Given the description of an element on the screen output the (x, y) to click on. 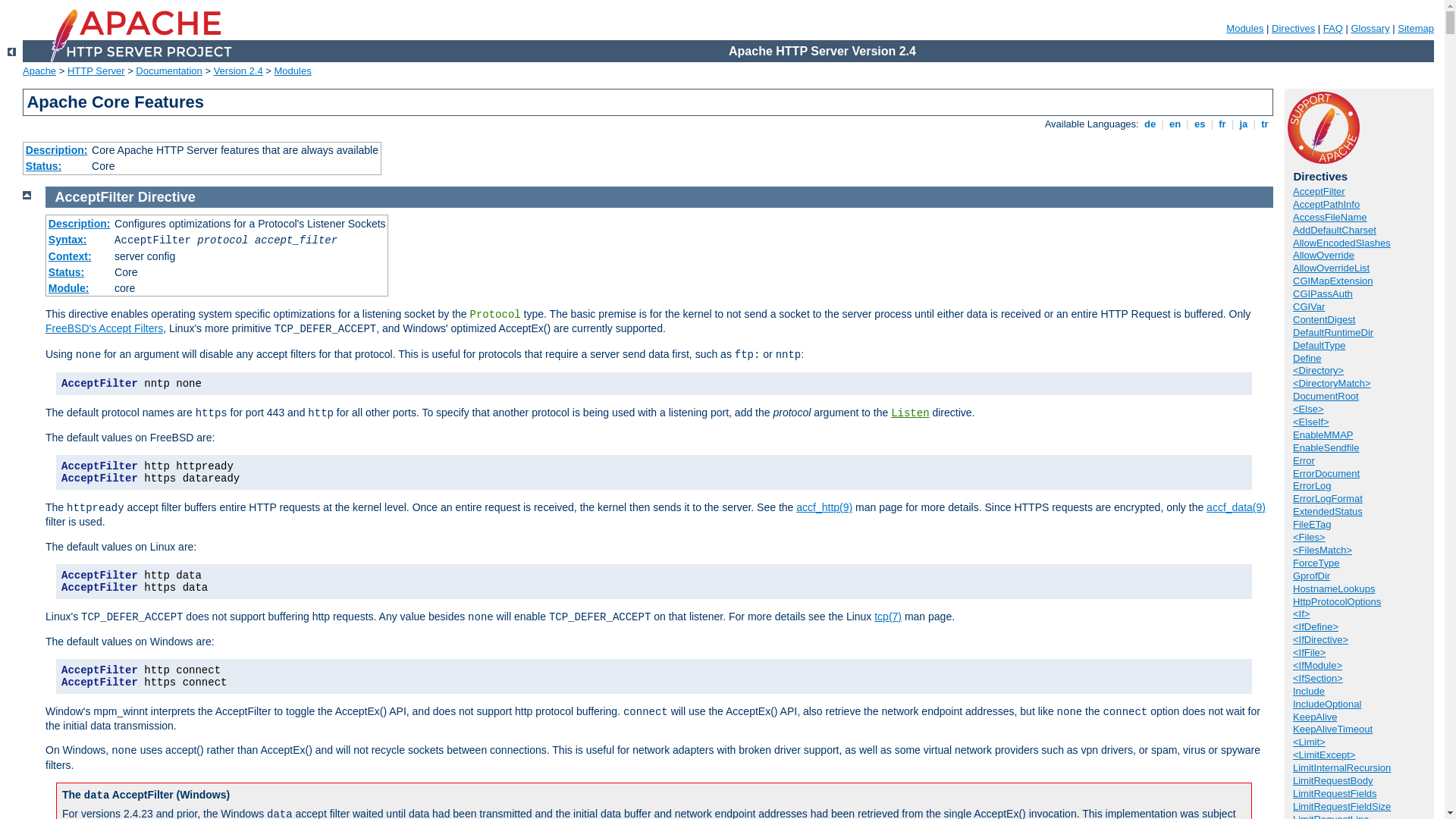
FileETag Element type: text (1311, 524)
AddDefaultCharset Element type: text (1334, 229)
DefaultRuntimeDir Element type: text (1332, 332)
 fr  Element type: text (1222, 123)
 es  Element type: text (1199, 123)
DefaultType Element type: text (1318, 345)
CGIVar Element type: text (1308, 306)
CGIMapExtension Element type: text (1332, 280)
ErrorLog Element type: text (1311, 485)
Error Element type: text (1303, 460)
CGIPassAuth Element type: text (1322, 293)
<If> Element type: text (1300, 613)
IncludeOptional Element type: text (1326, 703)
AllowOverrideList Element type: text (1330, 267)
<IfModule> Element type: text (1317, 665)
Directives Element type: text (1292, 28)
AcceptFilter Element type: text (94, 196)
<DirectoryMatch> Element type: text (1331, 383)
Apache Element type: text (39, 70)
ExtendedStatus Element type: text (1327, 511)
<IfSection> Element type: text (1317, 678)
AcceptPathInfo Element type: text (1325, 204)
Status: Element type: text (43, 166)
 de  Element type: text (1149, 123)
Syntax: Element type: text (67, 239)
HTTP Server Element type: text (96, 70)
Glossary Element type: text (1369, 28)
KeepAliveTimeout Element type: text (1332, 728)
Description: Element type: text (56, 150)
FAQ Element type: text (1333, 28)
<ElseIf> Element type: text (1310, 421)
accf_data(9) Element type: text (1235, 507)
<IfFile> Element type: text (1308, 652)
<IfDirective> Element type: text (1320, 639)
Sitemap Element type: text (1415, 28)
accf_http(9) Element type: text (824, 507)
<LimitExcept> Element type: text (1323, 754)
ForceType Element type: text (1315, 562)
<Directory> Element type: text (1317, 370)
ErrorDocument Element type: text (1325, 473)
KeepAlive Element type: text (1314, 716)
EnableSendfile Element type: text (1325, 447)
EnableMMAP Element type: text (1322, 434)
HttpProtocolOptions Element type: text (1336, 601)
GprofDir Element type: text (1311, 575)
Version 2.4 Element type: text (238, 70)
ErrorLogFormat Element type: text (1327, 498)
AllowEncodedSlashes Element type: text (1341, 242)
LimitRequestBody Element type: text (1332, 780)
Include Element type: text (1308, 690)
<FilesMatch> Element type: text (1322, 549)
AcceptFilter Element type: text (1318, 191)
 en  Element type: text (1174, 123)
Listen Element type: text (909, 413)
<Limit> Element type: text (1308, 741)
LimitRequestFieldSize Element type: text (1341, 806)
Module: Element type: text (68, 288)
Define Element type: text (1306, 358)
ContentDigest Element type: text (1323, 319)
Directive Element type: text (166, 196)
Modules Element type: text (292, 70)
 ja  Element type: text (1243, 123)
LimitRequestFields Element type: text (1334, 793)
<Else> Element type: text (1307, 408)
tcp(7) Element type: text (887, 616)
Status: Element type: text (66, 272)
AllowOverride Element type: text (1323, 254)
 tr  Element type: text (1264, 123)
DocumentRoot Element type: text (1325, 395)
AccessFileName Element type: text (1329, 216)
LimitInternalRecursion Element type: text (1341, 767)
Modules Element type: text (1244, 28)
HostnameLookups Element type: text (1333, 588)
Documentation Element type: text (168, 70)
FreeBSD's Accept Filters Element type: text (104, 328)
<IfDefine> Element type: text (1315, 626)
Description: Element type: text (79, 223)
Context: Element type: text (69, 256)
<- Element type: hover (11, 51)
<Files> Element type: text (1308, 536)
